Given the description of an element on the screen output the (x, y) to click on. 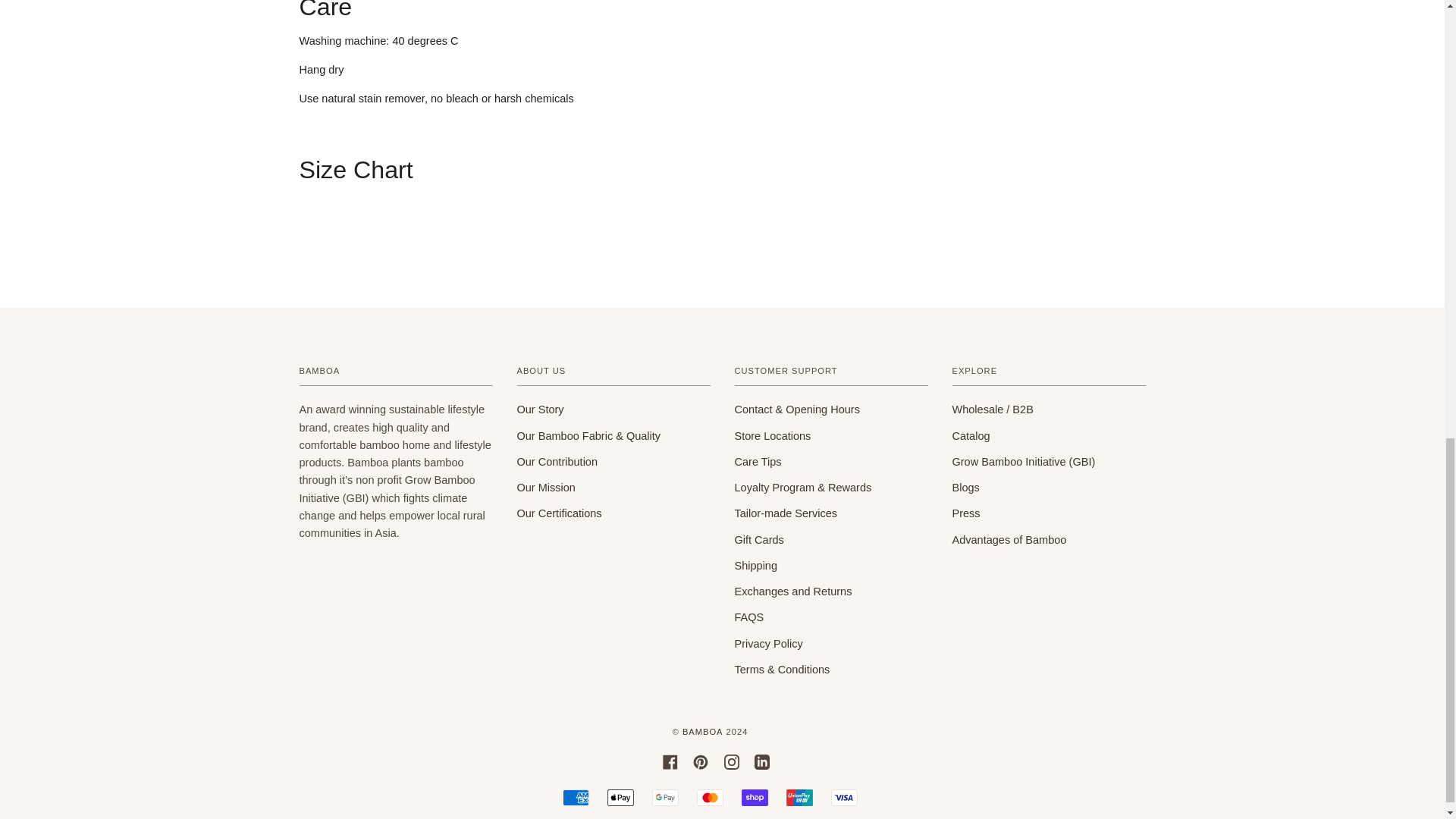
APPLE PAY (620, 797)
SHOP PAY (754, 797)
Linkedin (762, 760)
AMERICAN EXPRESS (575, 797)
MASTERCARD (710, 797)
Facebook (670, 760)
VISA (844, 797)
GOOGLE PAY (665, 797)
Instagram (731, 760)
UNION PAY (799, 797)
